Given the description of an element on the screen output the (x, y) to click on. 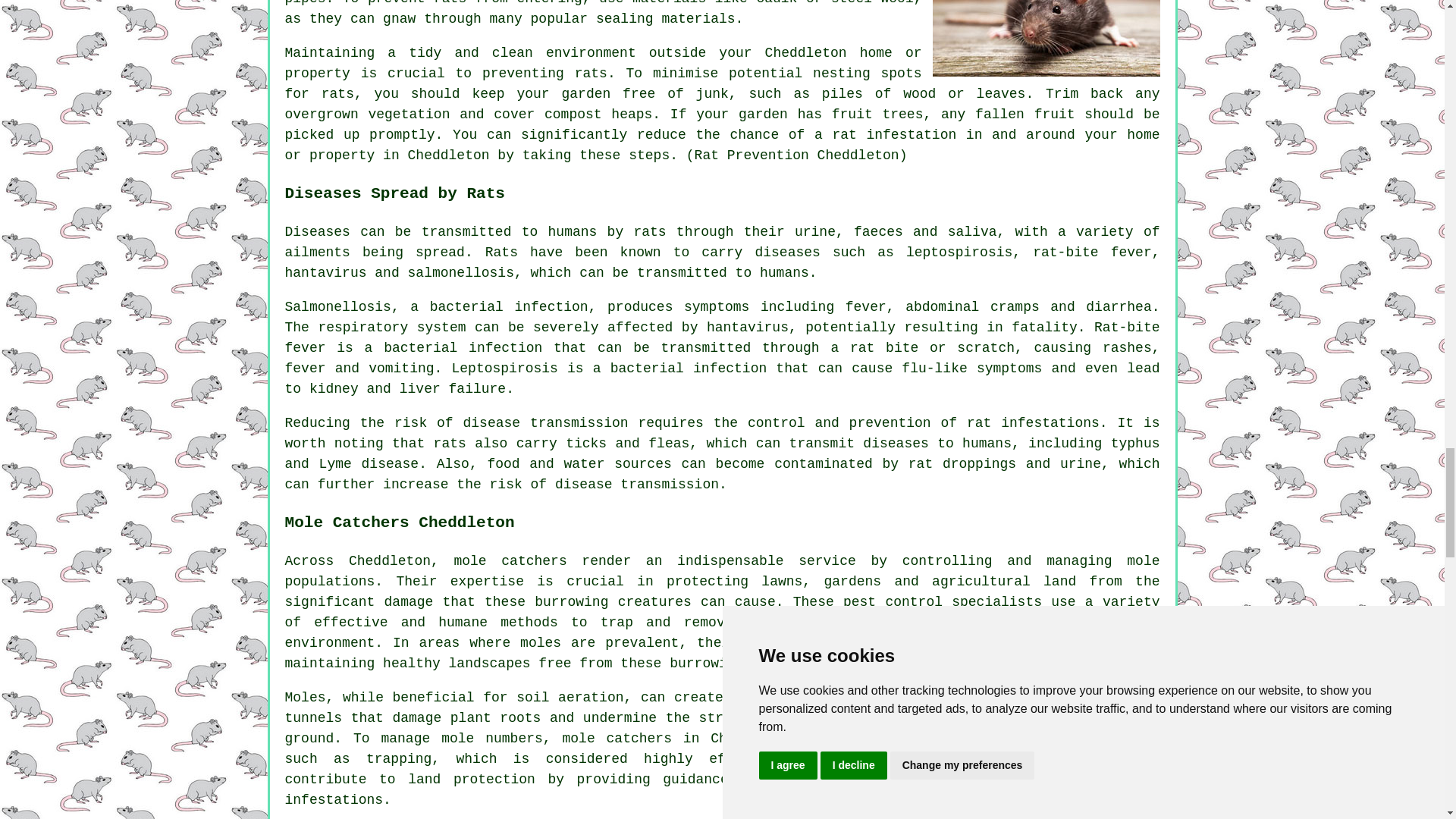
rats (591, 73)
a rat infestation (884, 134)
Rat Prevention Cheddleton (1046, 38)
Mole Catchers Cheddleton (1046, 753)
mole cachers (509, 560)
